Given the description of an element on the screen output the (x, y) to click on. 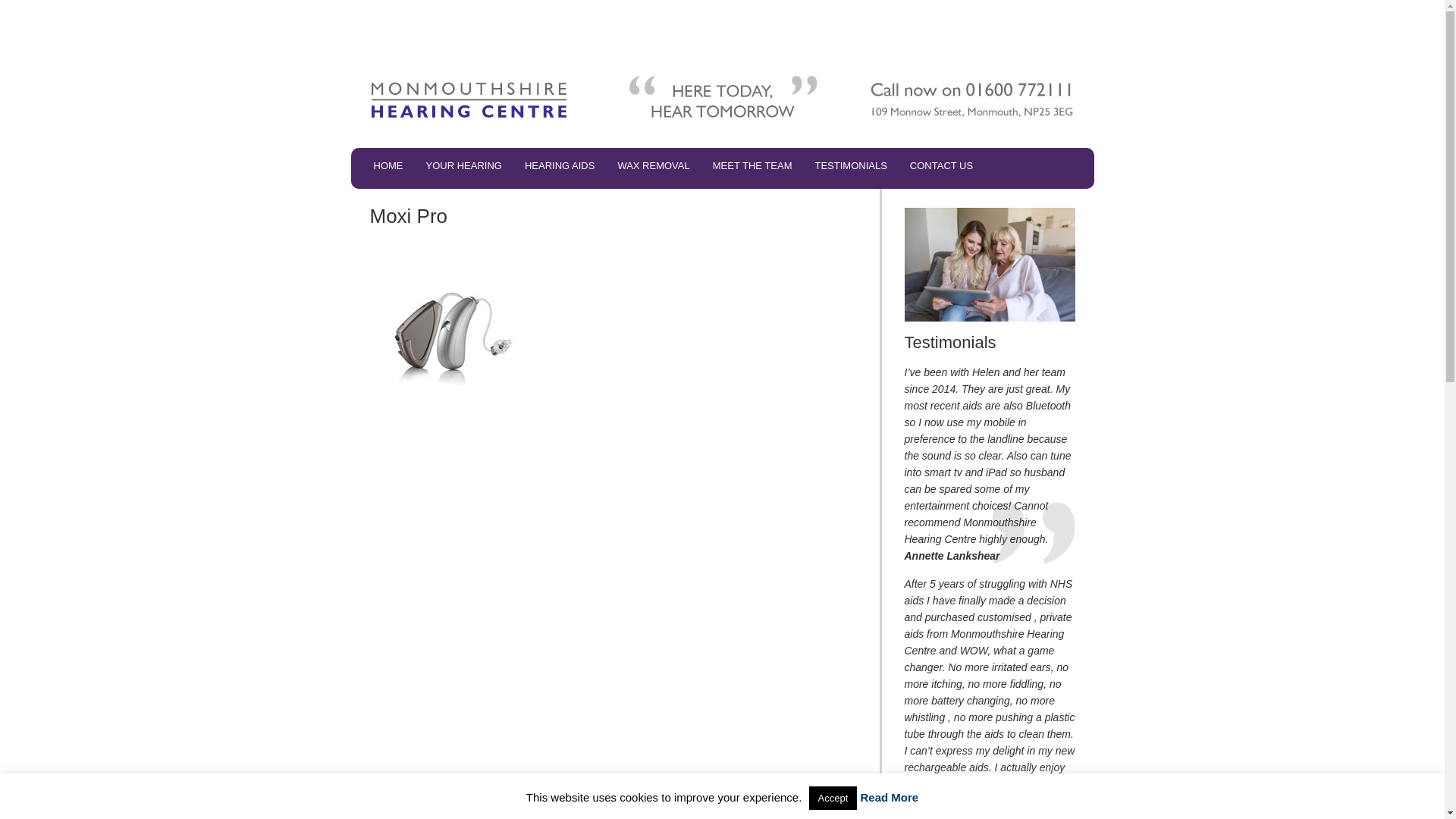
Accept (833, 797)
MEET THE TEAM (752, 166)
HEARING AIDS (559, 166)
CONTACT US (941, 166)
WAX REMOVAL (652, 166)
TESTIMONIALS (850, 166)
HOME (388, 166)
Read More (889, 797)
YOUR HEARING (462, 166)
